Given the description of an element on the screen output the (x, y) to click on. 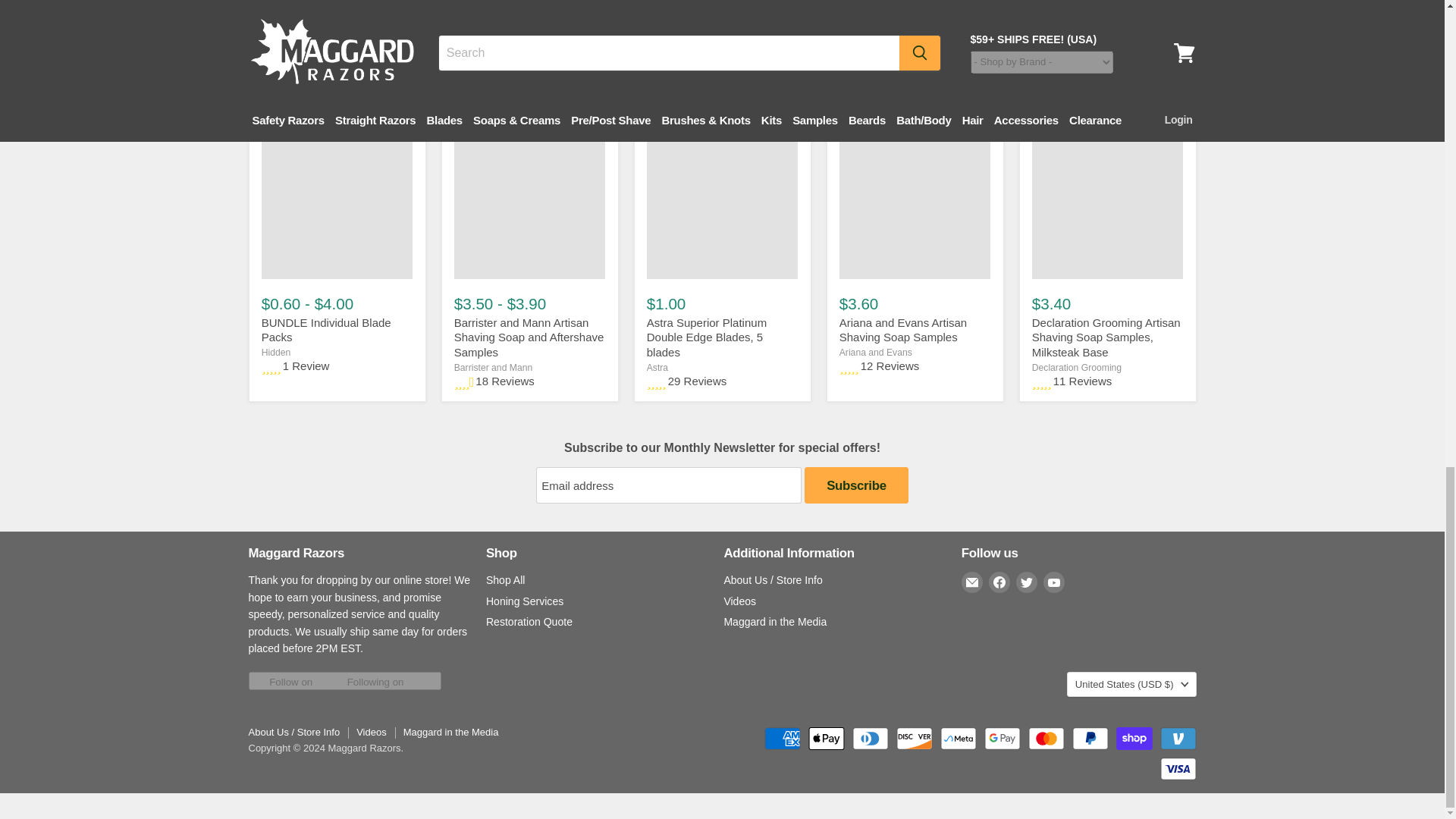
Apple Pay (826, 738)
Meta Pay (958, 738)
Facebook (999, 581)
Diners Club (869, 738)
Astra (657, 367)
YouTube (1053, 581)
Ariana and Evans (876, 352)
Barrister and Mann (493, 367)
American Express (782, 738)
Email (971, 581)
Twitter (1026, 581)
Google Pay (1002, 738)
Hidden (276, 352)
Declaration Grooming (1076, 367)
Subscribe (856, 484)
